Given the description of an element on the screen output the (x, y) to click on. 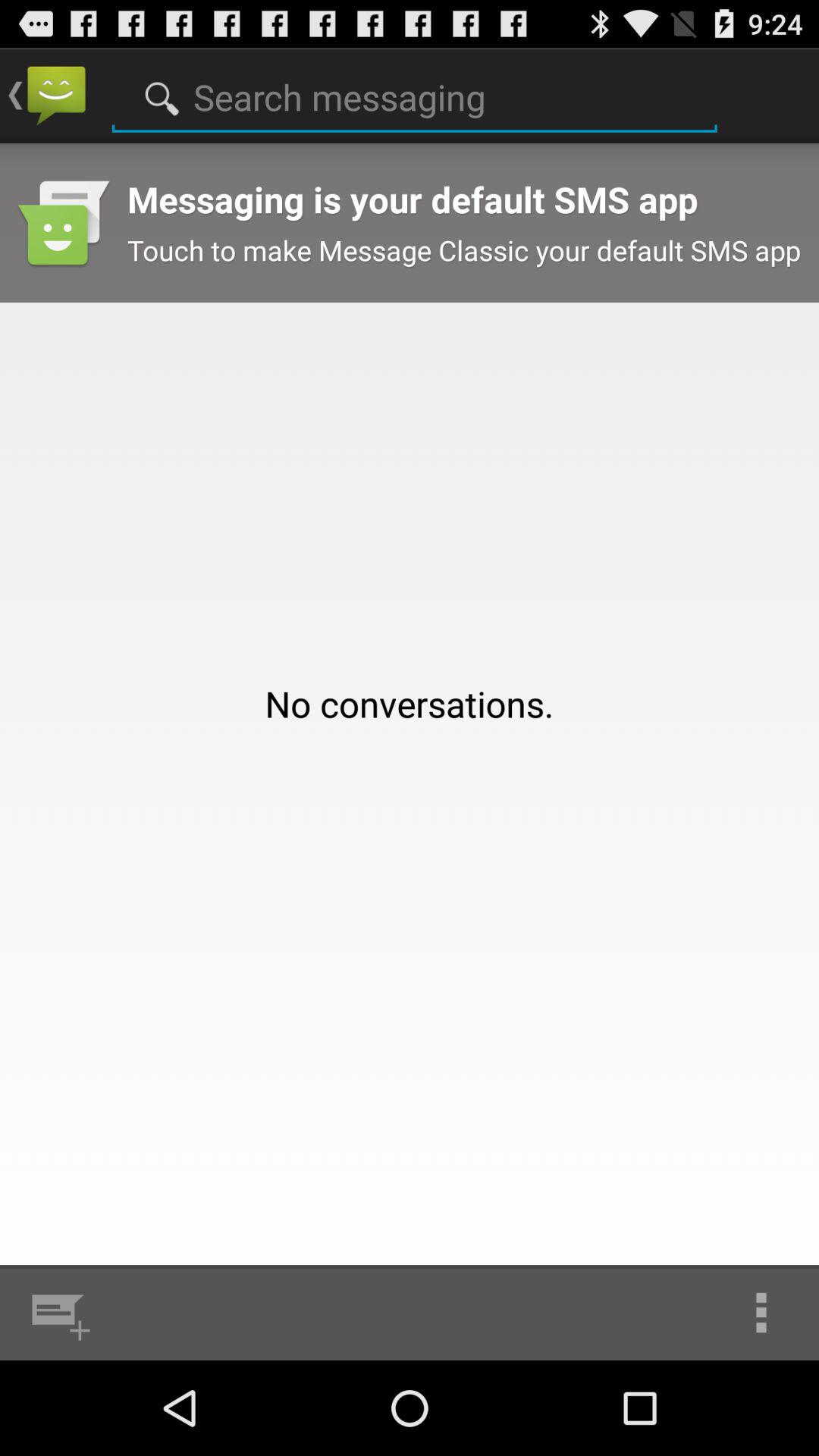
tap app below the no conversations. app (760, 1312)
